Given the description of an element on the screen output the (x, y) to click on. 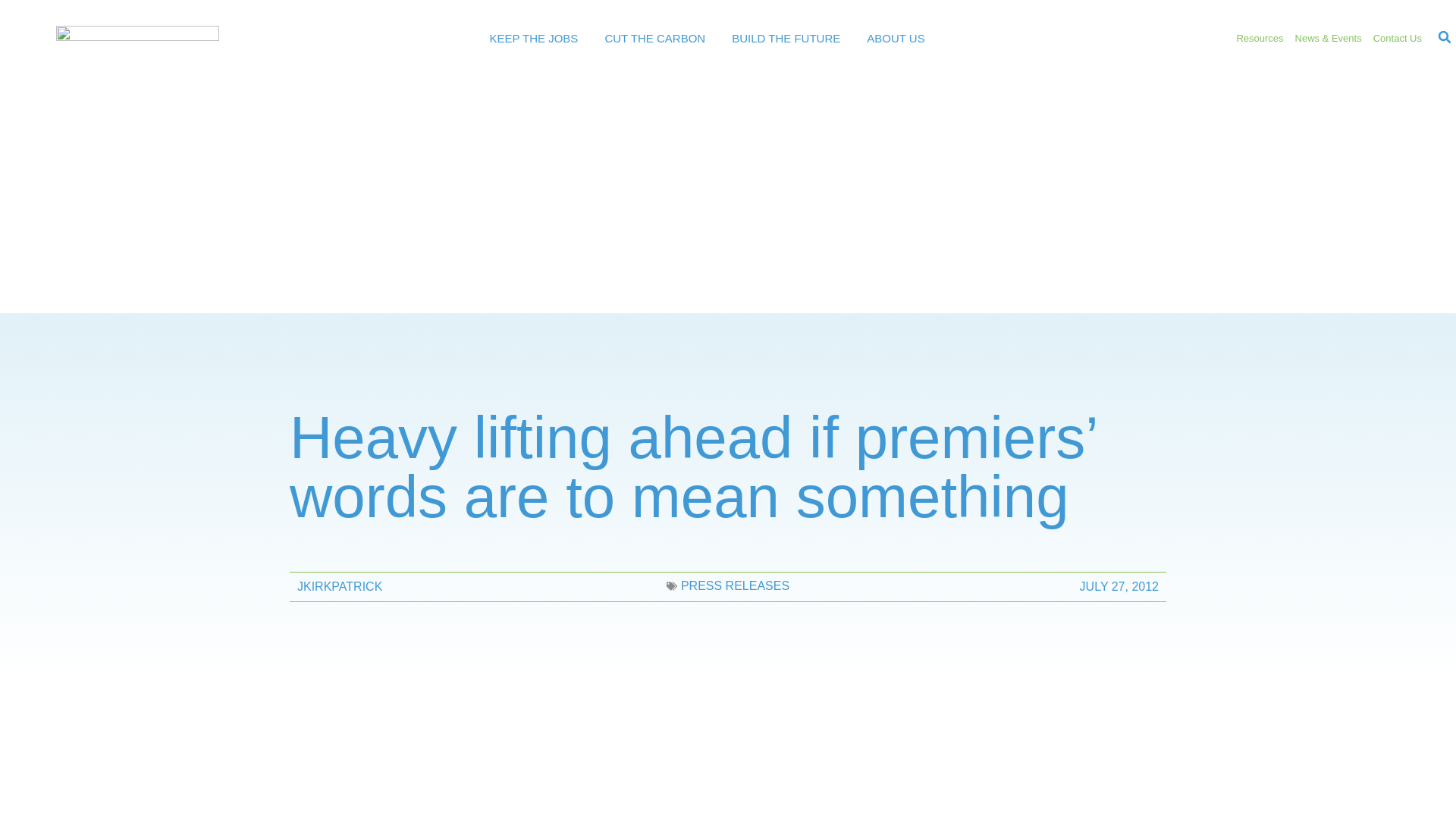
KEEP THE JOBS (533, 38)
BUILD THE FUTURE (786, 38)
Resources (1259, 38)
CUT THE CARBON (654, 38)
Contact Us (1397, 38)
ABOUT US (895, 38)
